Given the description of an element on the screen output the (x, y) to click on. 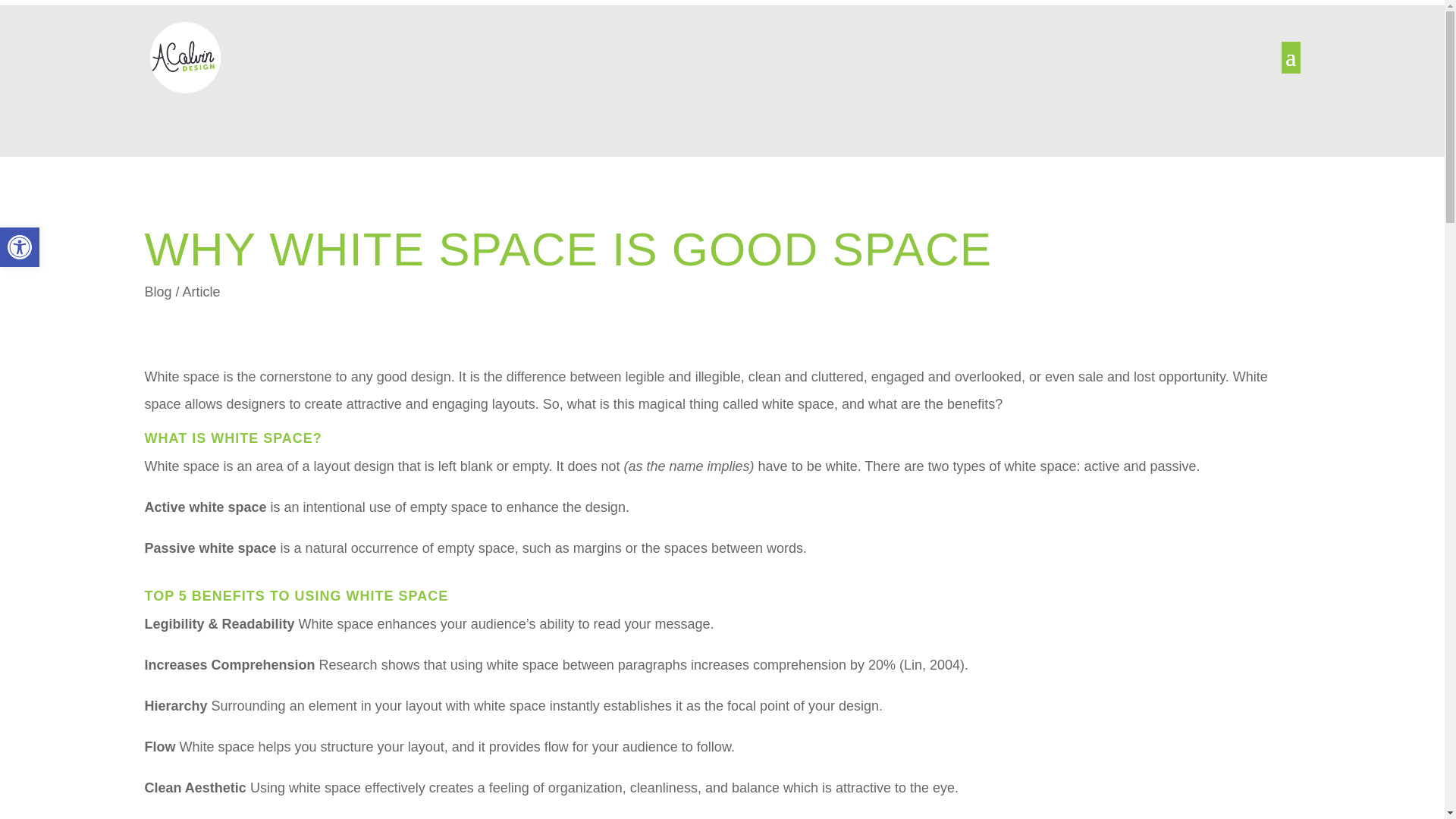
Accessibility Tools (19, 247)
Accessibility Tools (19, 246)
